Given the description of an element on the screen output the (x, y) to click on. 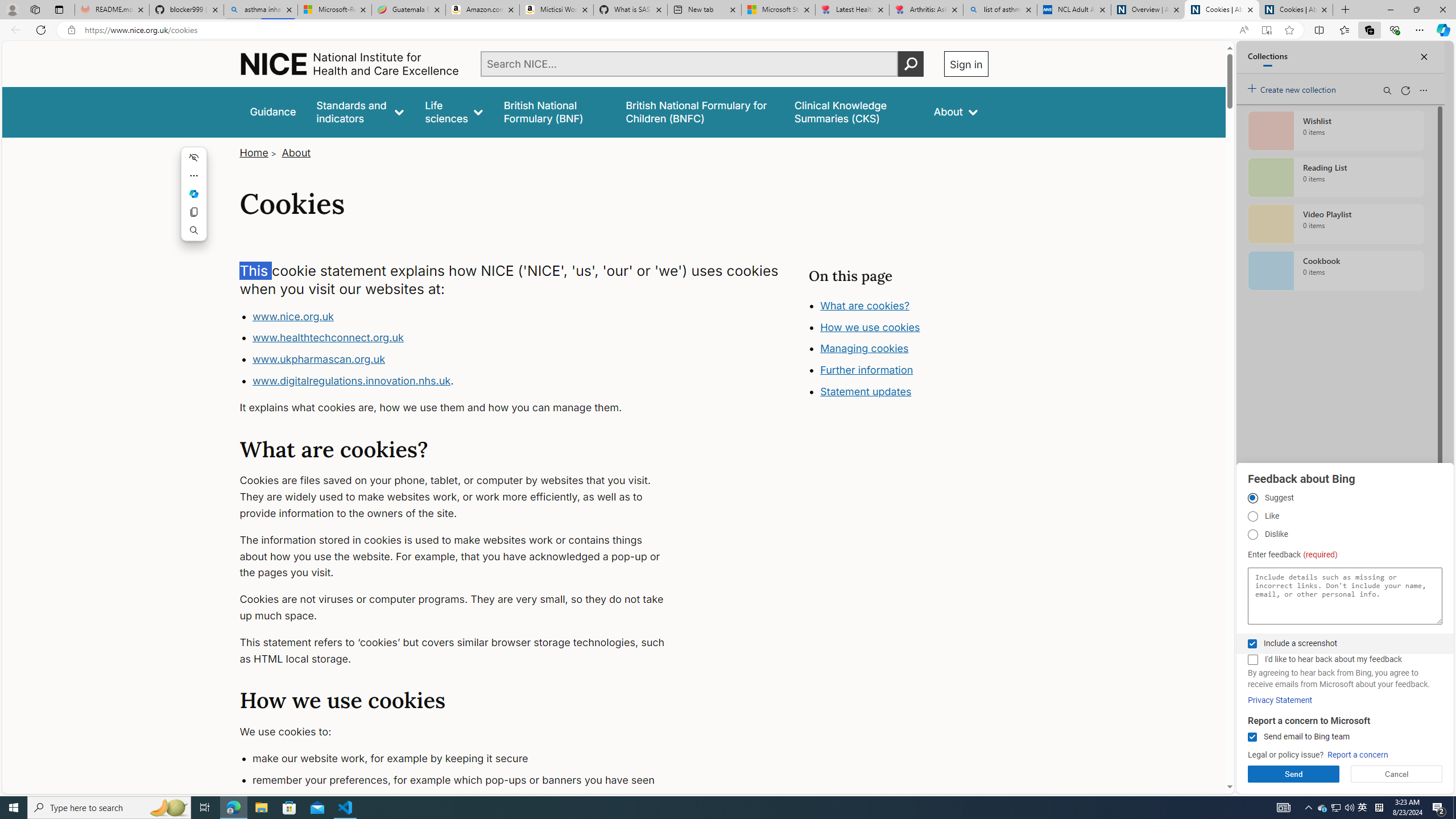
www.nice.org.uk (292, 315)
How we use cookies (909, 389)
Mini menu on text selection (193, 200)
www.digitalregulations.innovation.nhs.uk. (464, 380)
Copy (194, 212)
Suggest (1252, 498)
